Given the description of an element on the screen output the (x, y) to click on. 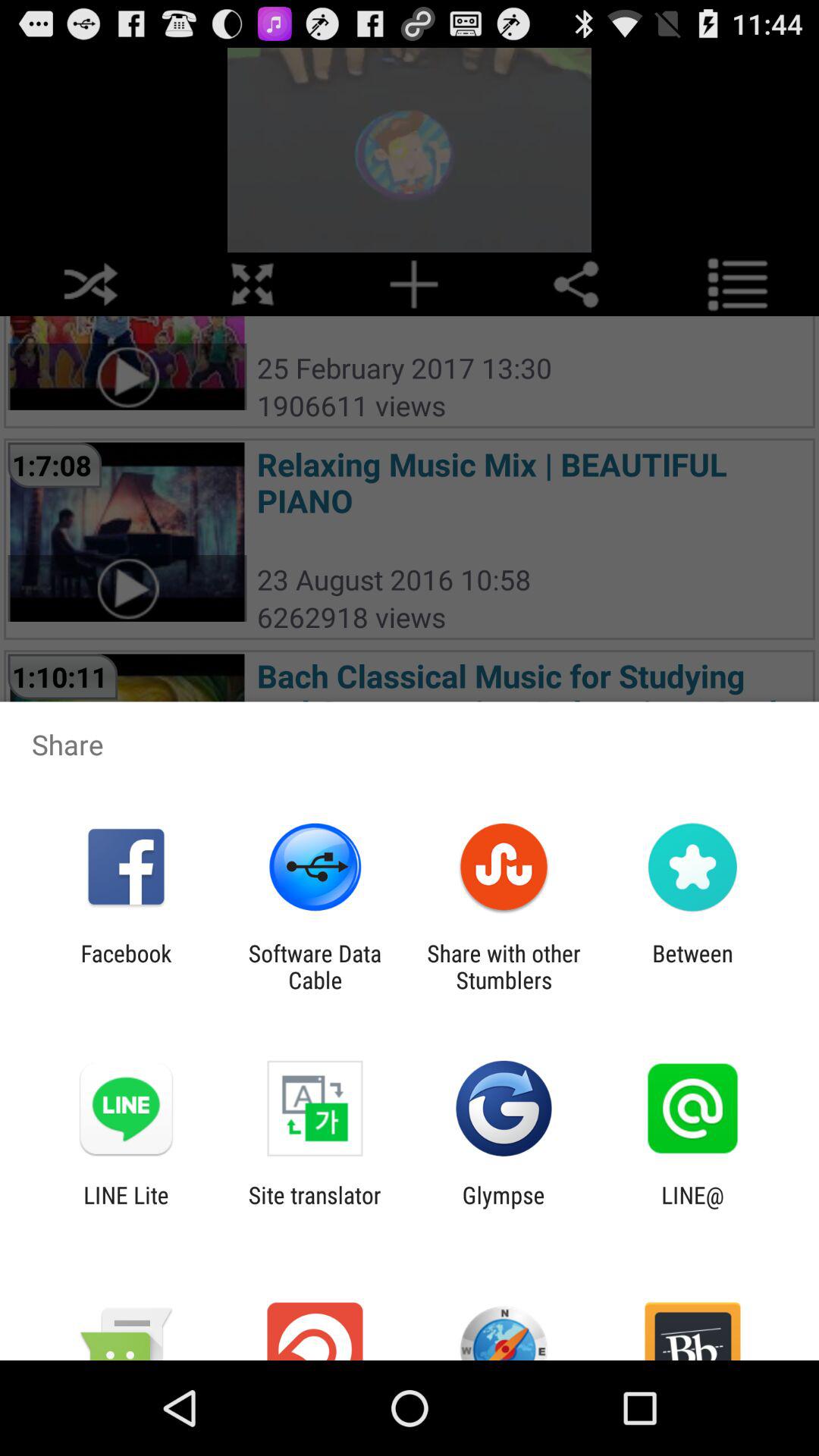
jump until between (692, 966)
